Given the description of an element on the screen output the (x, y) to click on. 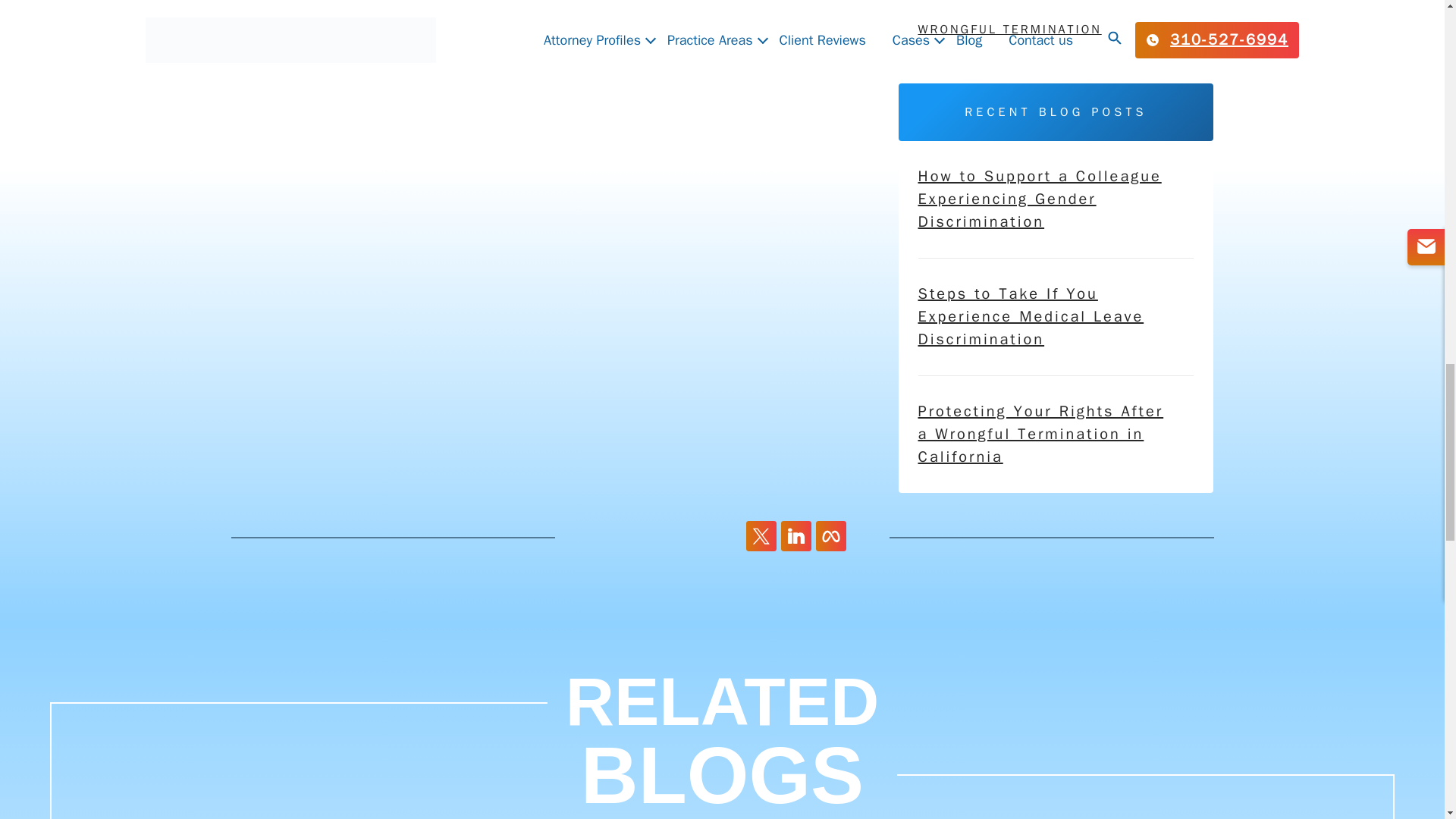
Facebook (830, 535)
twitter (760, 535)
LinkedIn (795, 535)
